Given the description of an element on the screen output the (x, y) to click on. 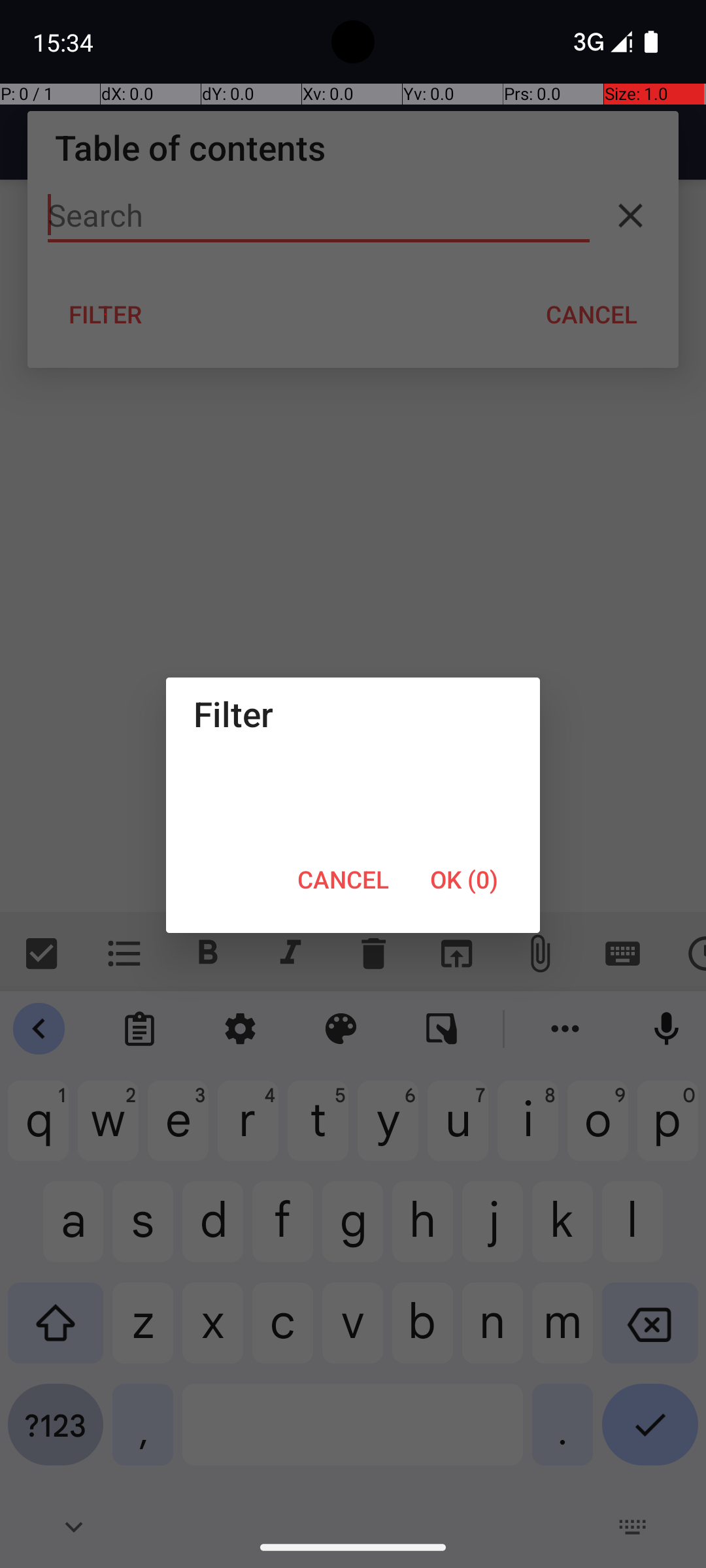
Filter Element type: android.widget.TextView (352, 713)
OK (0) Element type: android.widget.Button (464, 879)
